Given the description of an element on the screen output the (x, y) to click on. 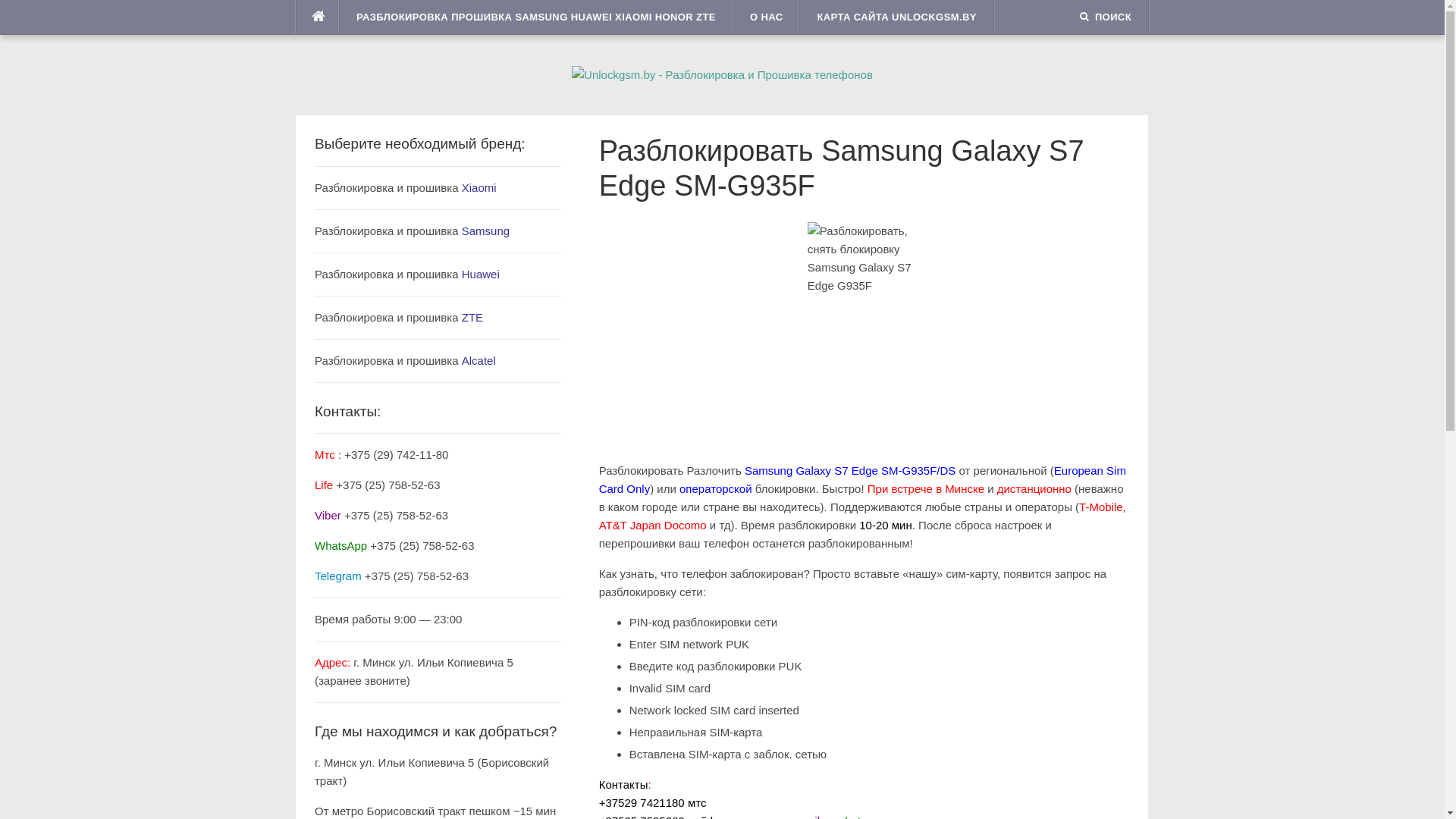
Life +375 (25) 758-52-63 Element type: text (377, 484)
WhatsApp +375 (25) 758-52-63 Element type: text (394, 545)
+375 (29) 742-11-80 Element type: text (396, 454)
Telegram +375 (25) 758-52-63 Element type: text (391, 575)
Viber +375 (25) 758-52-63 Element type: text (381, 514)
